Given the description of an element on the screen output the (x, y) to click on. 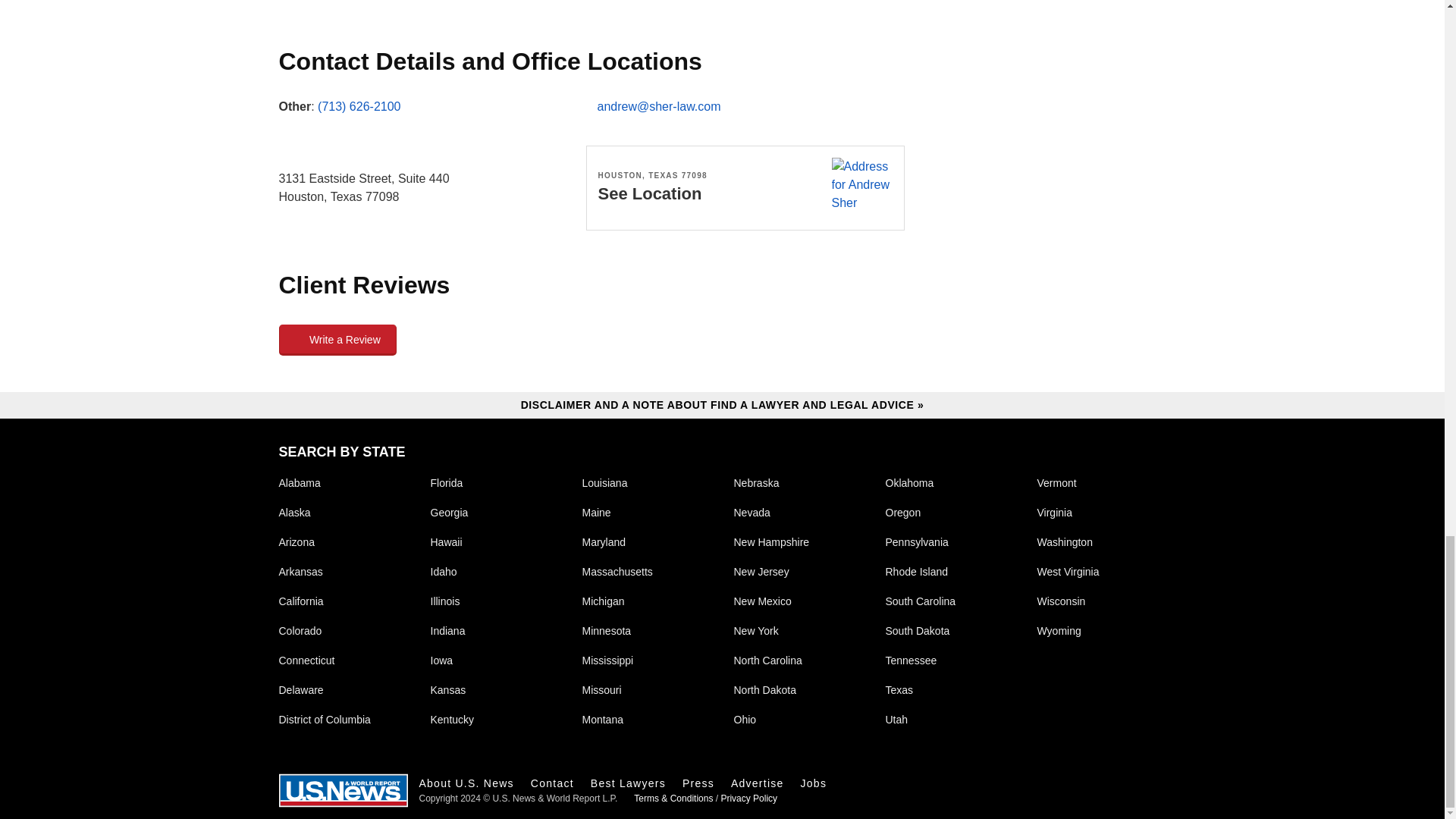
U.S. News (343, 790)
